Given the description of an element on the screen output the (x, y) to click on. 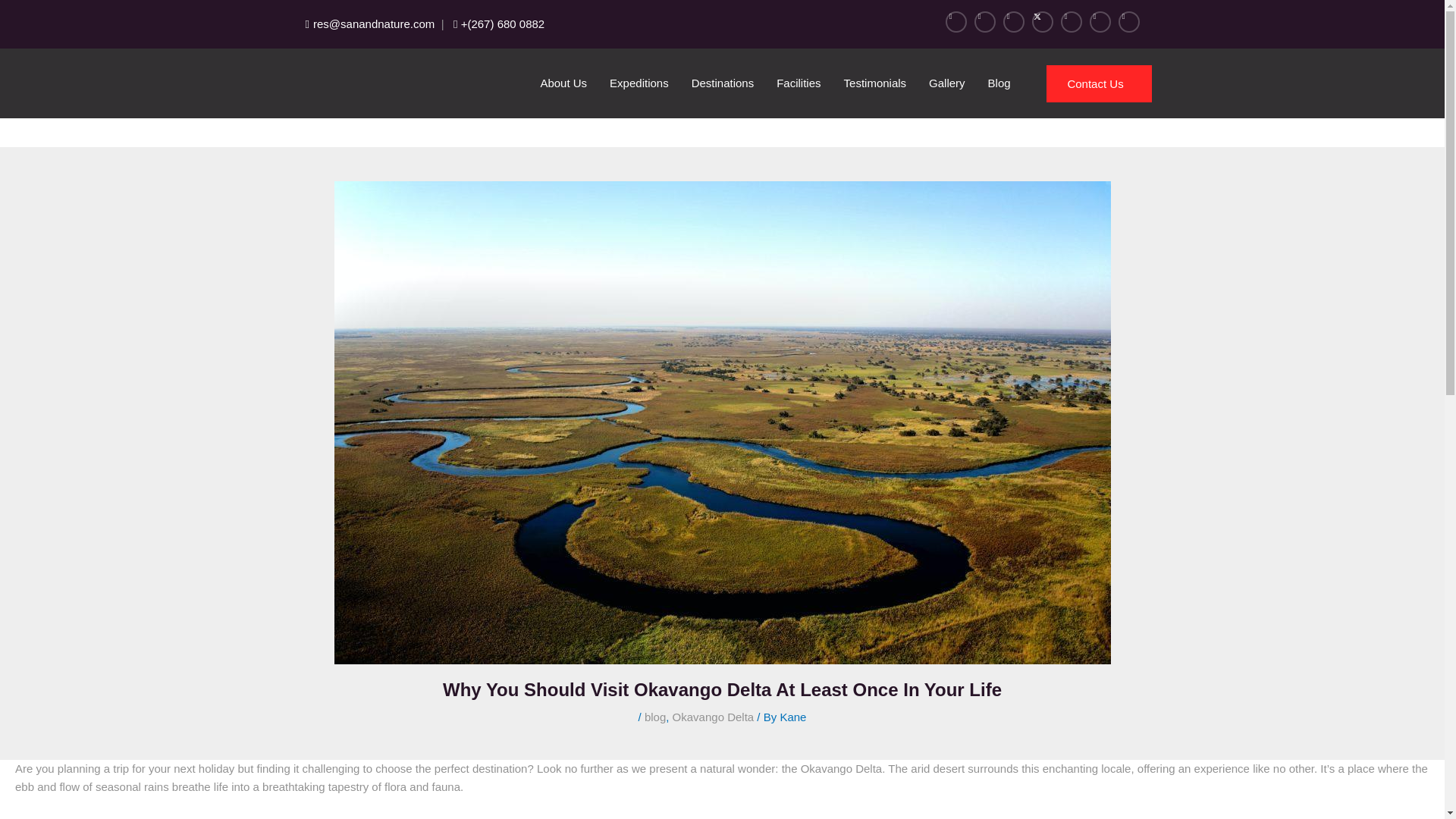
blog (655, 716)
Okavango Delta (713, 716)
Testimonials (875, 83)
Facilities (798, 83)
Expeditions (638, 83)
Kane (792, 716)
Blog (999, 83)
Destinations (722, 83)
Contact Us (1098, 83)
About Us (563, 83)
